Given the description of an element on the screen output the (x, y) to click on. 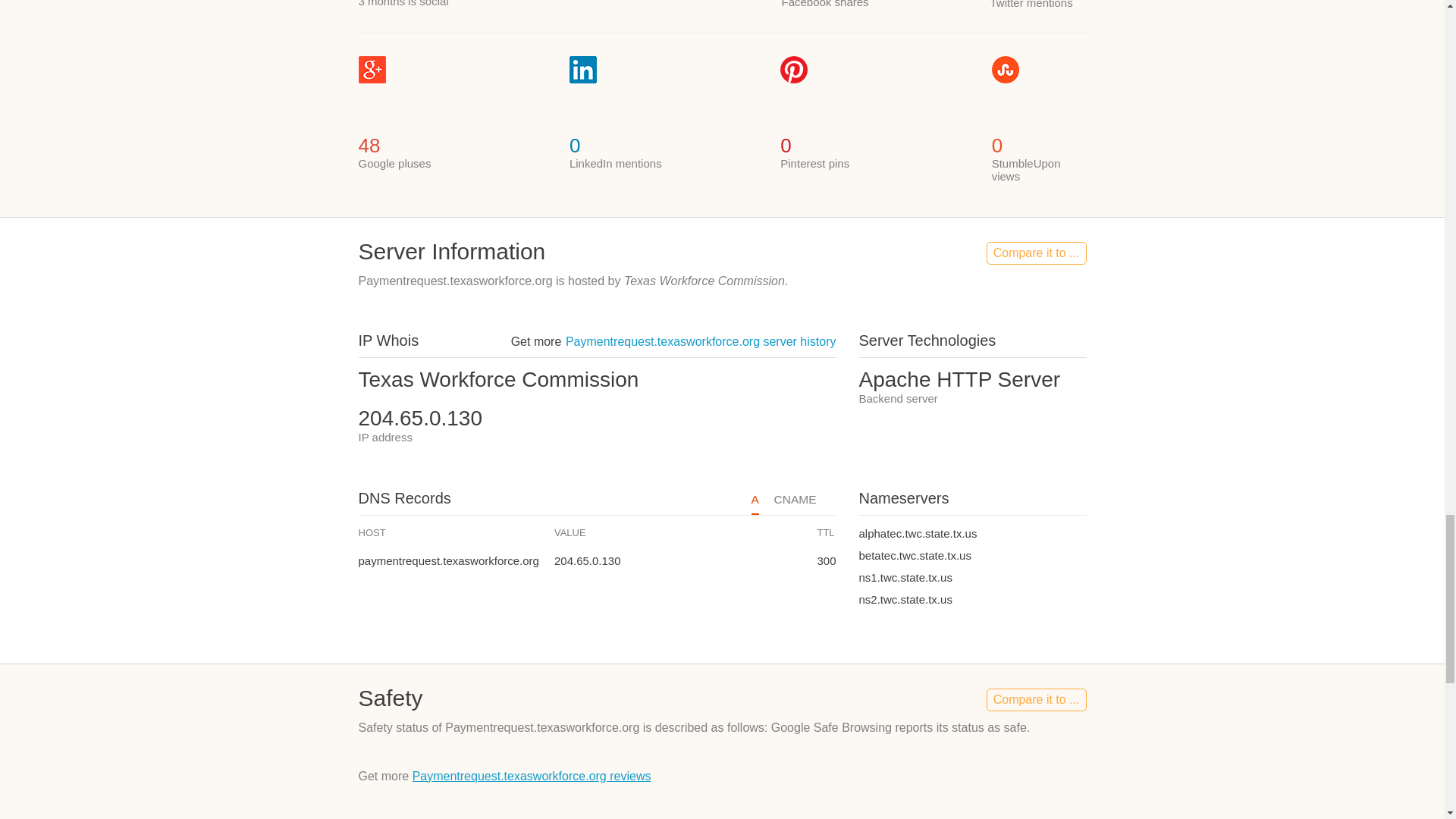
A (754, 504)
Compare it to ... (1036, 699)
Paymentrequest.texasworkforce.org server history (700, 341)
Paymentrequest.texasworkforce.org reviews (531, 775)
CNAME (795, 504)
Compare it to ... (1036, 252)
